Given the description of an element on the screen output the (x, y) to click on. 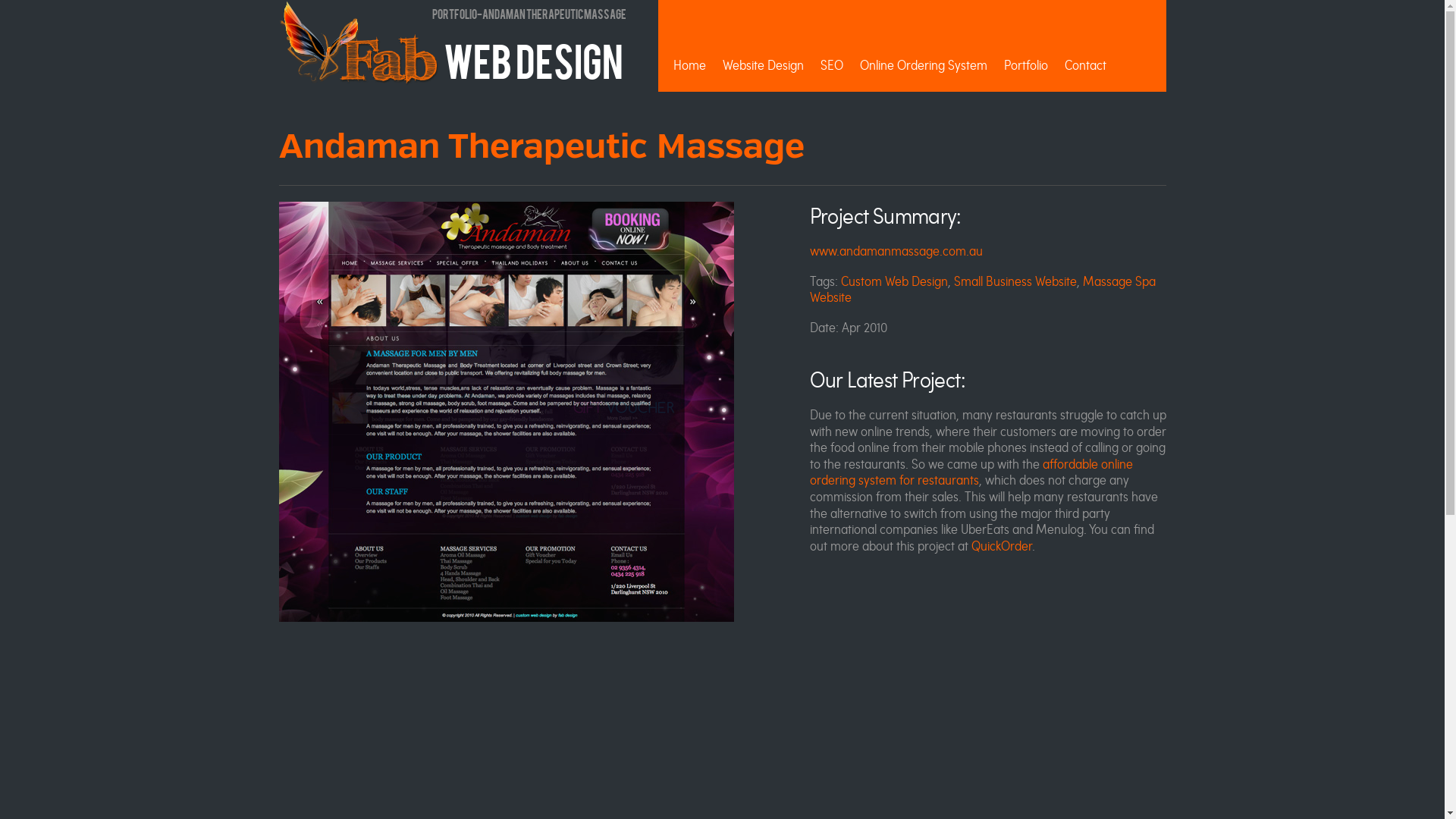
Small Business Website Element type: text (1014, 280)
Home Element type: text (689, 64)
Massage Spa Website Element type: text (982, 289)
affordable online ordering system for restaurants Element type: text (970, 472)
Contact Element type: text (1085, 64)
SEO Element type: text (831, 64)
Custom Web Design Element type: text (893, 280)
Fab Web Design Element type: text (451, 59)
Online Ordering System Element type: text (923, 64)
Portfolio Element type: text (1026, 64)
QuickOrder Element type: text (1000, 545)
www.andamanmassage.com.au Element type: text (895, 250)
Website Design Element type: text (762, 64)
